Given the description of an element on the screen output the (x, y) to click on. 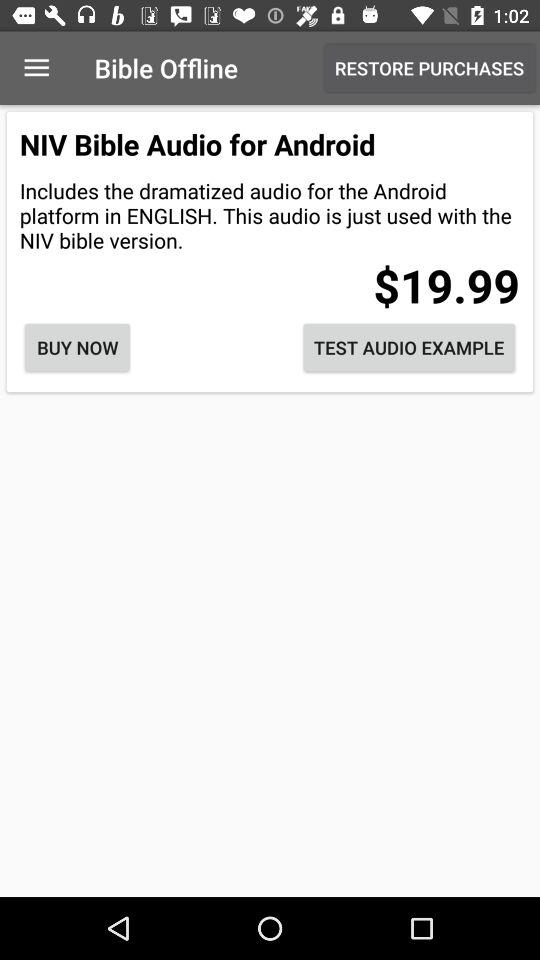
choose icon on the right (409, 347)
